Given the description of an element on the screen output the (x, y) to click on. 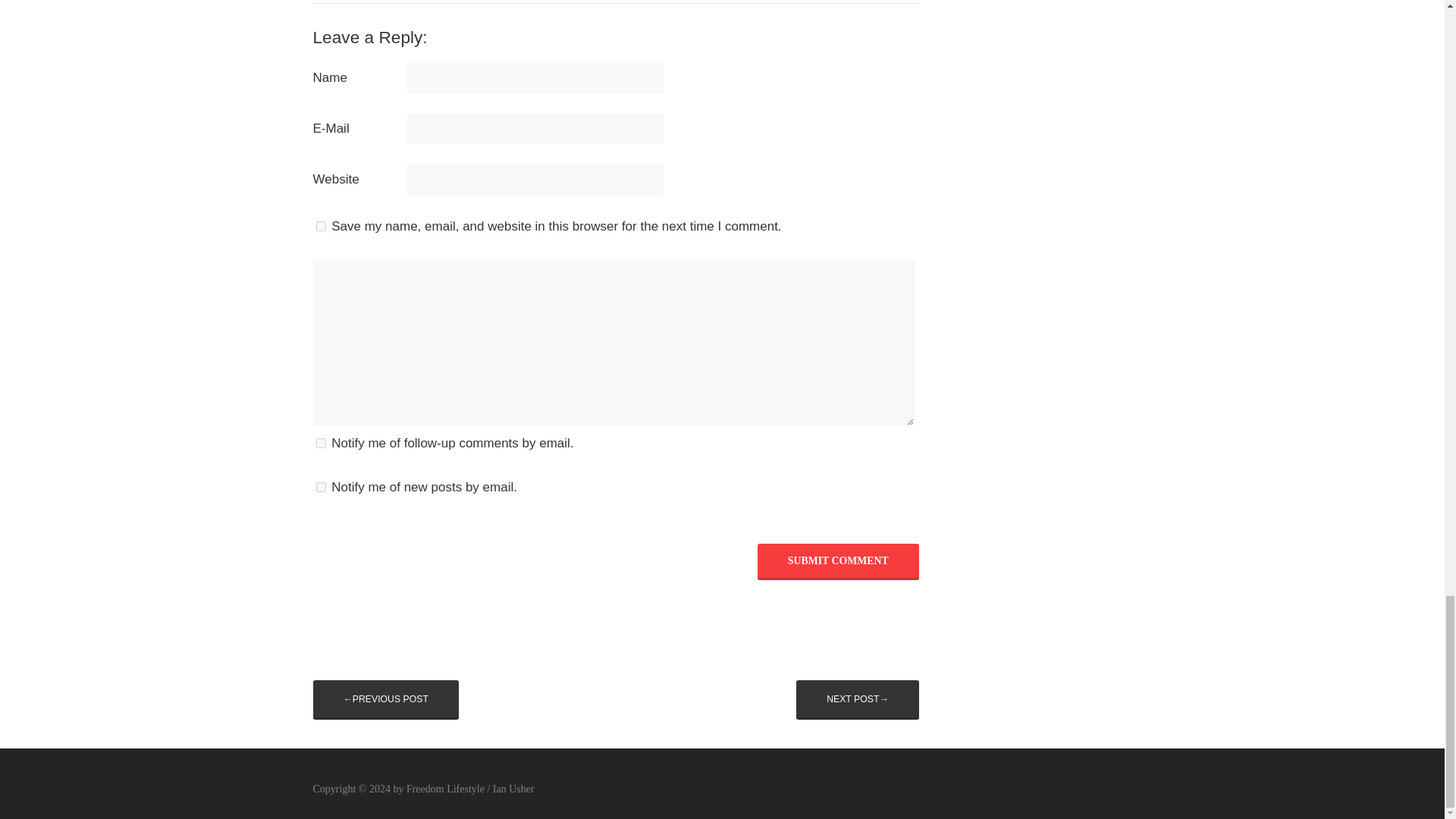
yes (319, 225)
SUBMIT COMMENT (837, 560)
subscribe (319, 442)
SUBMIT COMMENT (837, 560)
subscribe (319, 487)
